Given the description of an element on the screen output the (x, y) to click on. 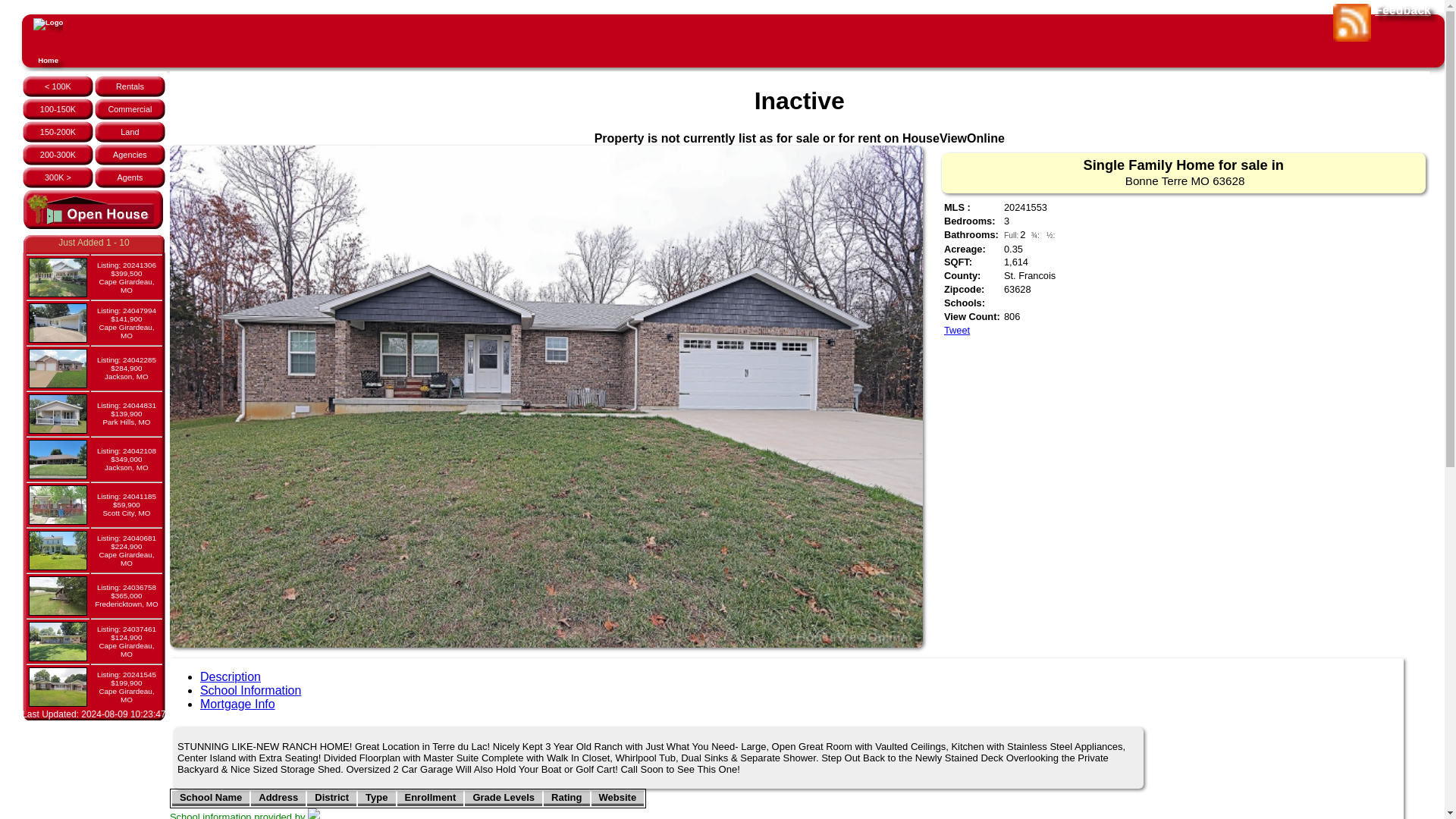
Land (129, 131)
Agencies (130, 153)
Click to View Current Open house Listings! (93, 226)
School Information (250, 689)
Subscribe to RSS feed (1352, 22)
Commercial (129, 108)
Click To View Listing in Cape Girardeau MO (126, 277)
Rentals (130, 85)
200-300K (57, 153)
150-200K (57, 131)
